Given the description of an element on the screen output the (x, y) to click on. 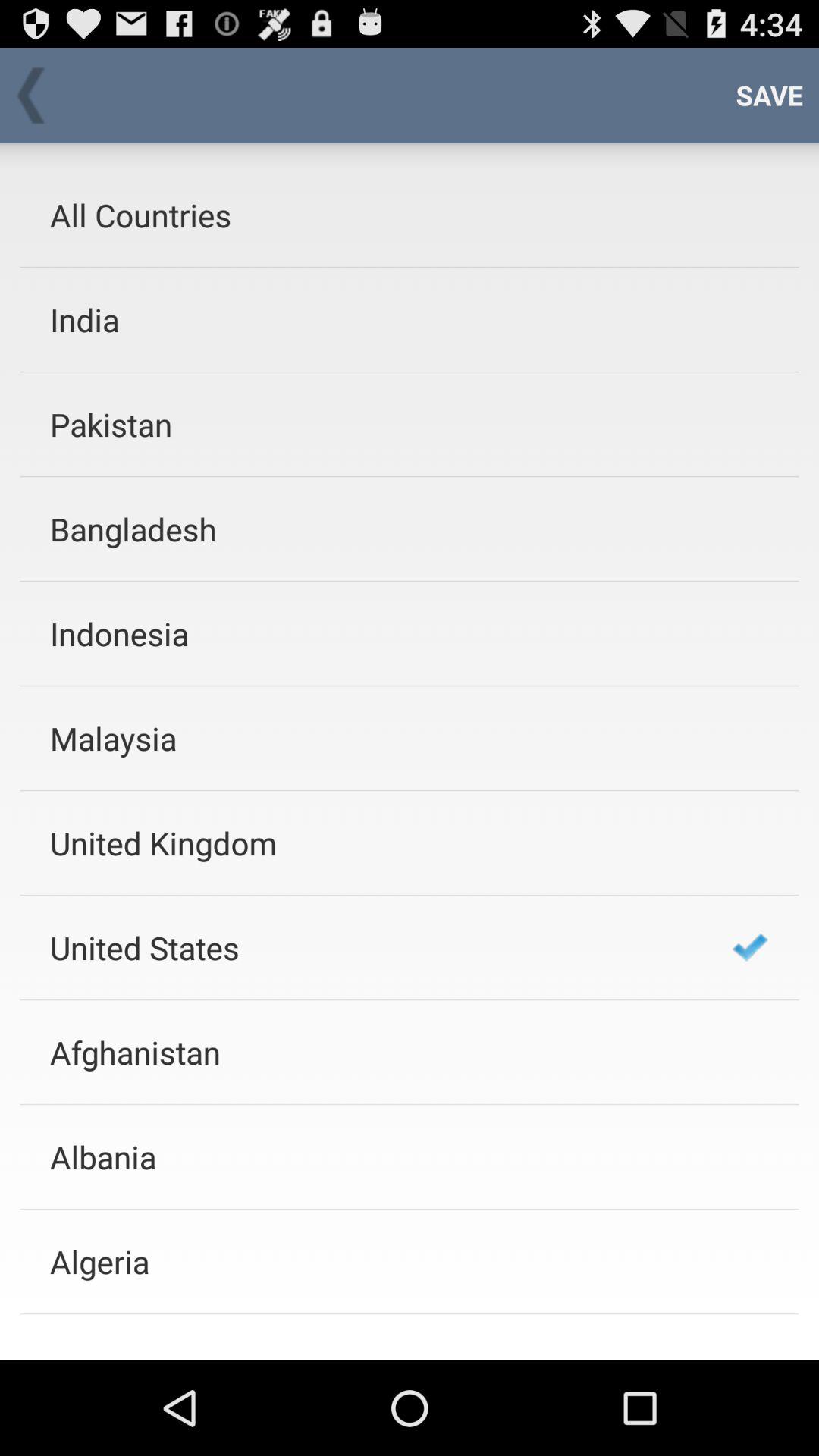
swipe to save icon (769, 95)
